Given the description of an element on the screen output the (x, y) to click on. 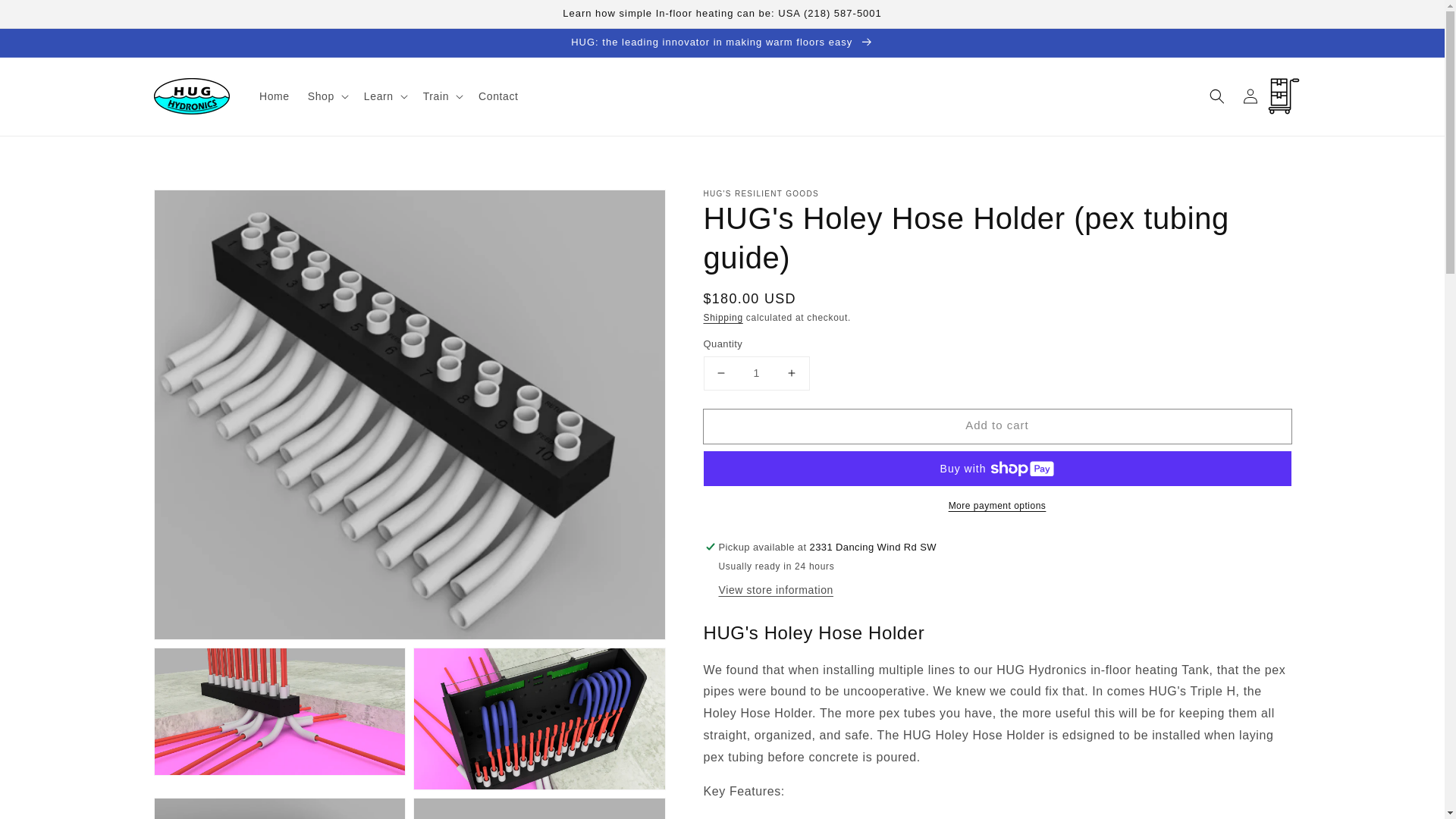
1 (756, 373)
Home (274, 96)
Skip to content (45, 16)
